Given the description of an element on the screen output the (x, y) to click on. 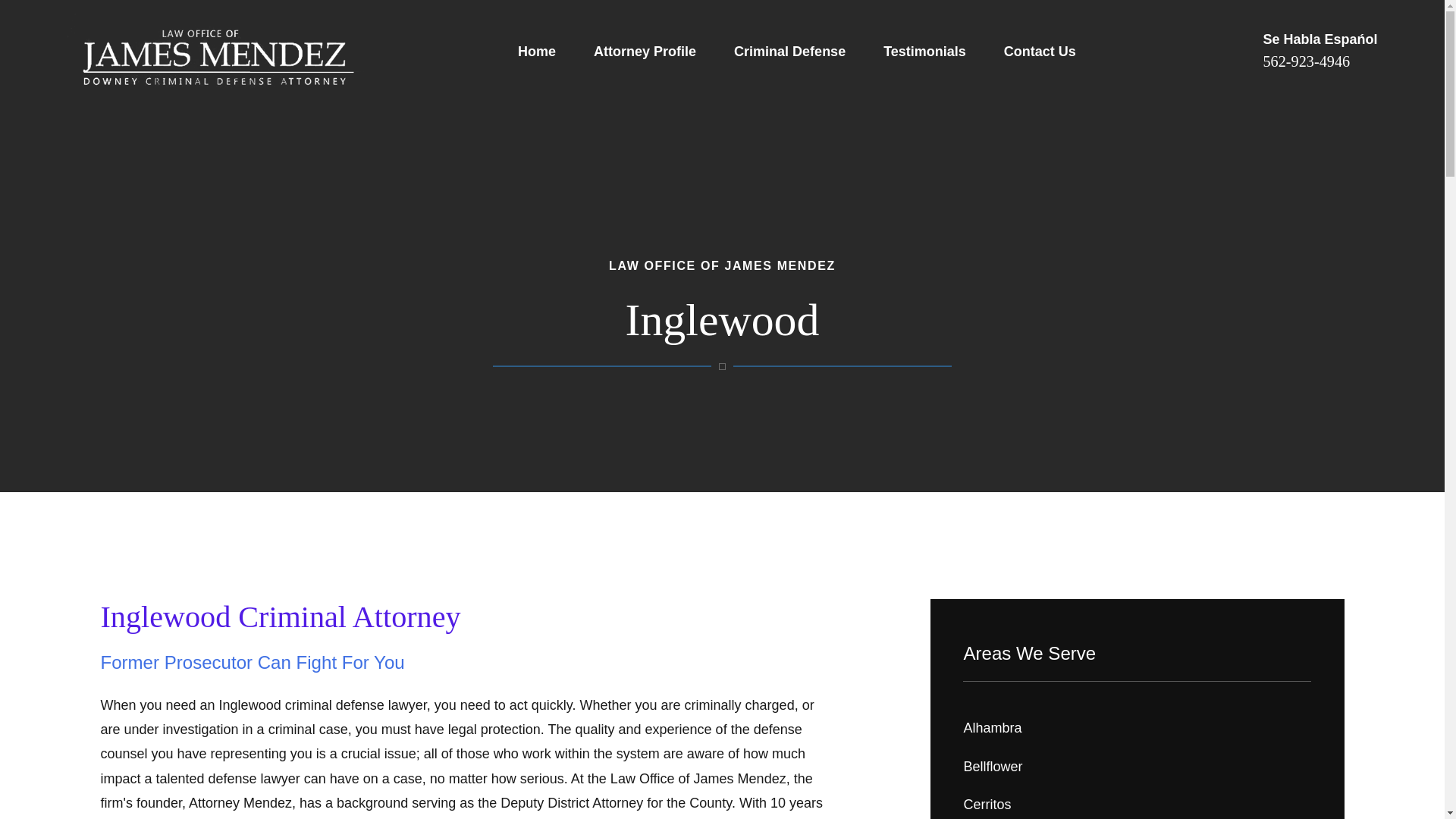
Contact Us (1039, 51)
Attorney Profile (644, 51)
Home (537, 51)
Testimonials (924, 51)
Criminal Defense (789, 51)
Home (217, 51)
